Given the description of an element on the screen output the (x, y) to click on. 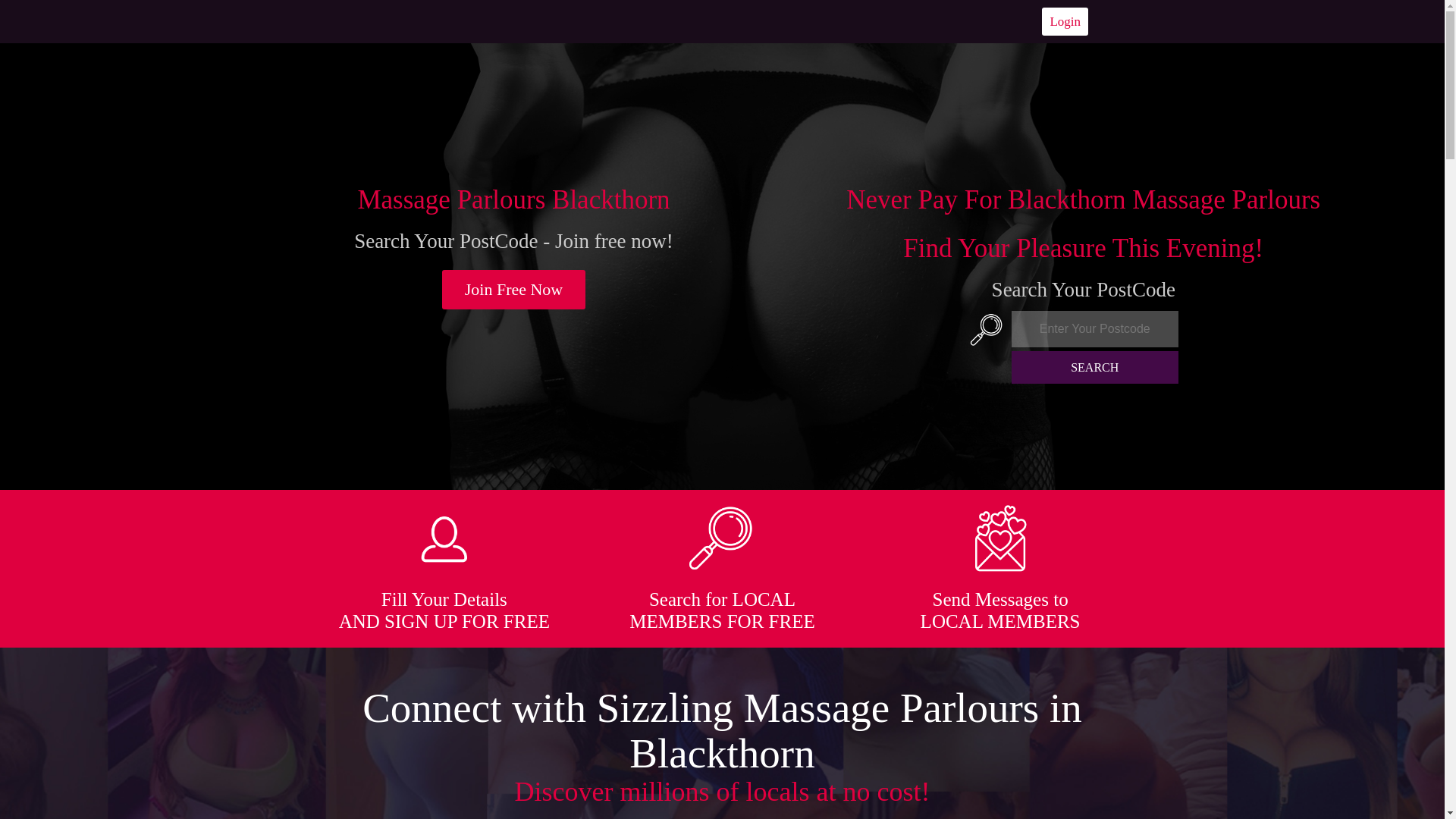
Join Free Now (514, 289)
Login (1064, 21)
Join (514, 289)
SEARCH (1094, 367)
Login (1064, 21)
